Given the description of an element on the screen output the (x, y) to click on. 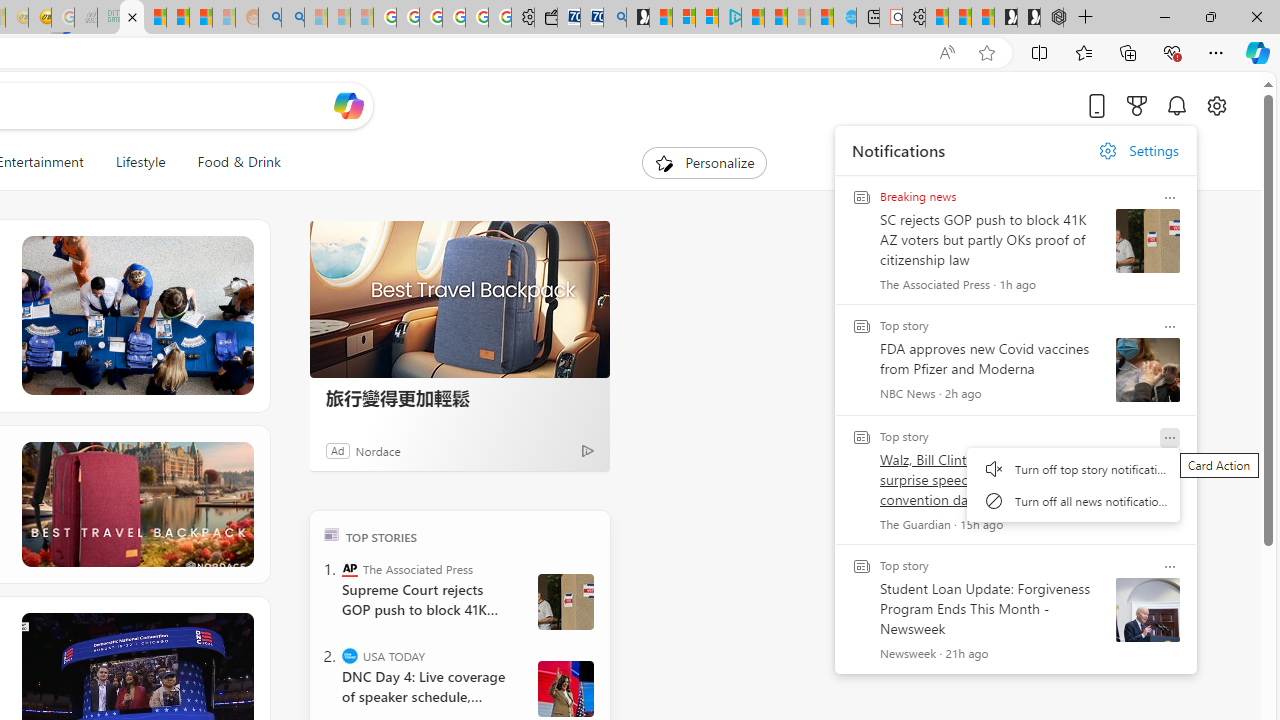
Wallet (545, 17)
TOP (331, 534)
